Given the description of an element on the screen output the (x, y) to click on. 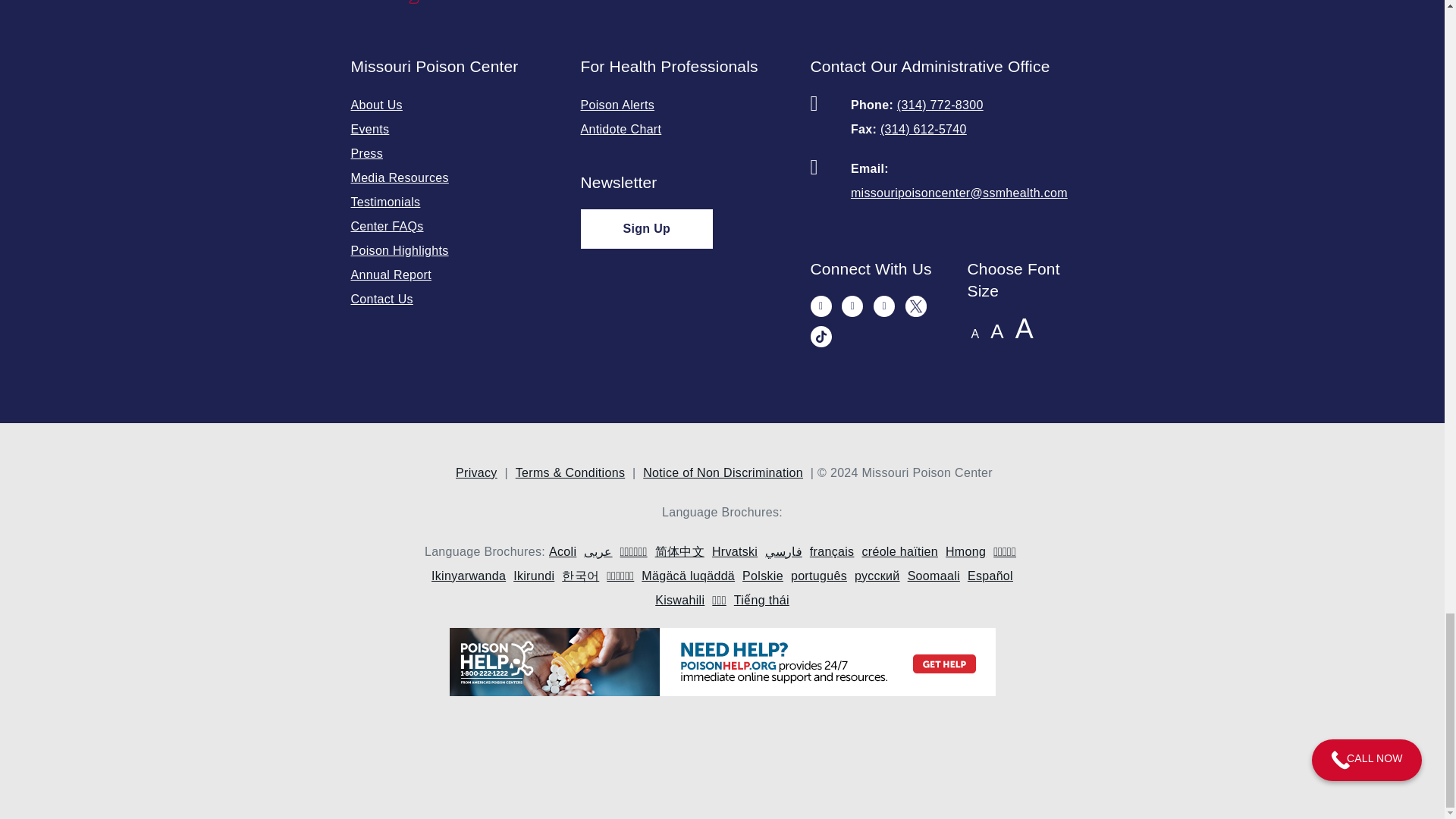
PoisonHelp.org banner (721, 666)
